Given the description of an element on the screen output the (x, y) to click on. 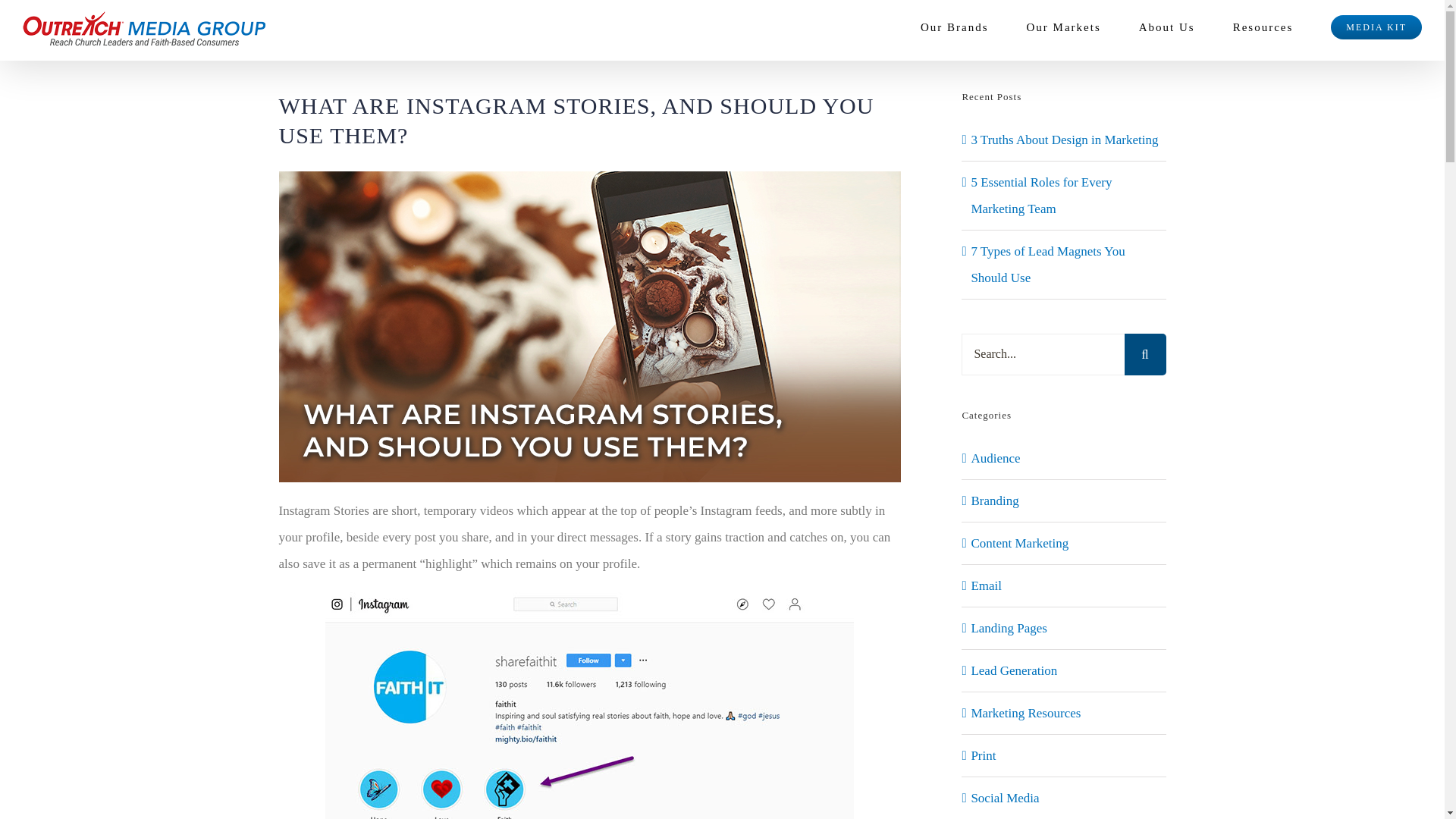
Our Markets (1063, 27)
About Us (1166, 27)
Resources (1263, 27)
MEDIA KIT (1376, 27)
Our Brands (954, 27)
